Given the description of an element on the screen output the (x, y) to click on. 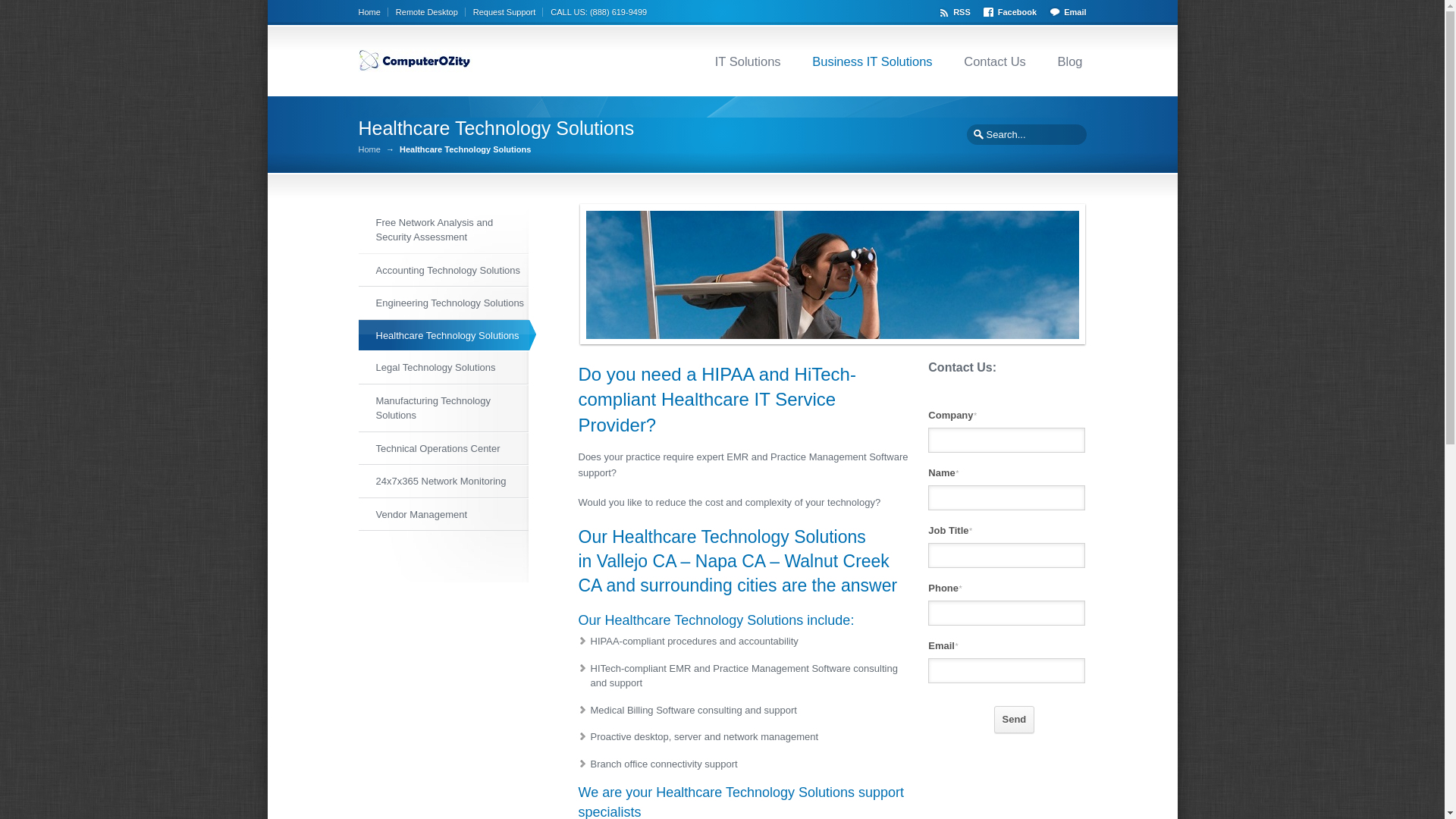
RSS (956, 10)
Send (1014, 718)
Facebook (1012, 10)
Email (1066, 10)
IT Solutions (747, 60)
Search... (1024, 134)
Home (372, 11)
Remote Desktop (430, 11)
Business IT Solutions (872, 60)
Request Support (508, 11)
